Given the description of an element on the screen output the (x, y) to click on. 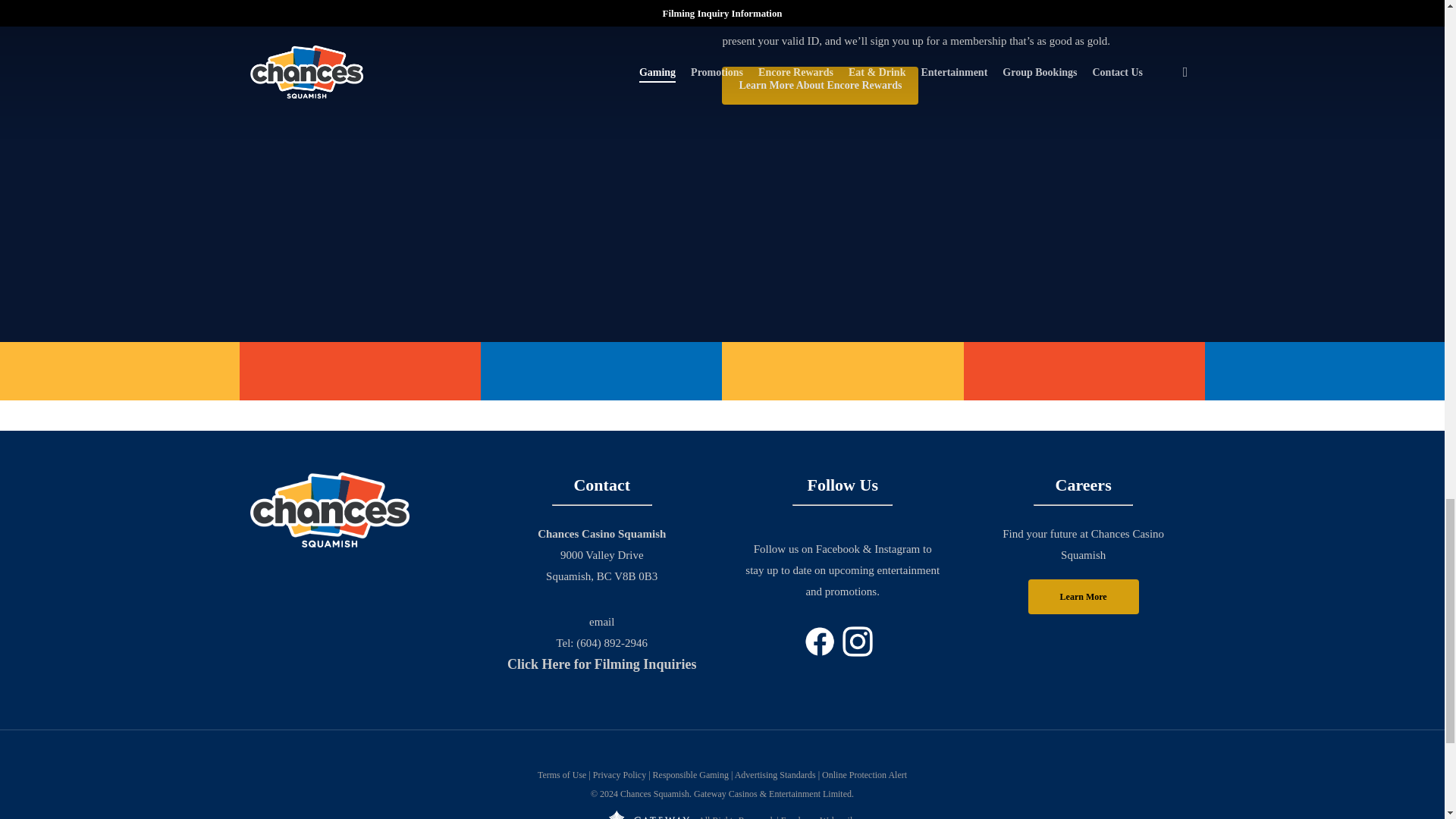
Learn More (1082, 596)
Terms of Use (561, 774)
Online Protection Alert (864, 774)
Click Here for Filming Inquiries (600, 663)
email (601, 621)
Advertising Standards (775, 774)
Responsible Gaming (690, 774)
Privacy Policy (619, 774)
